Given the description of an element on the screen output the (x, y) to click on. 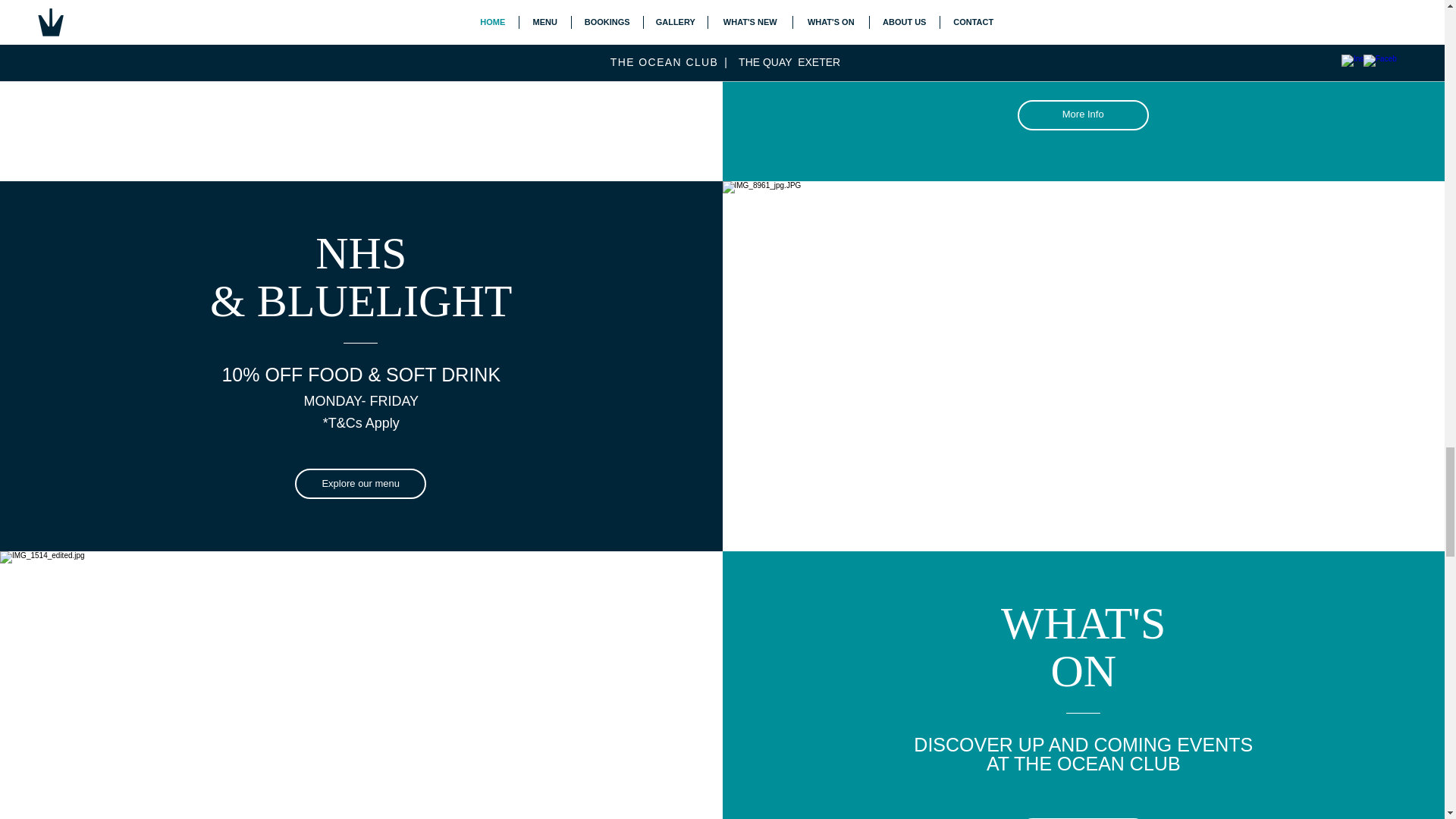
Explore our menu (360, 483)
More Info (1082, 114)
